Given the description of an element on the screen output the (x, y) to click on. 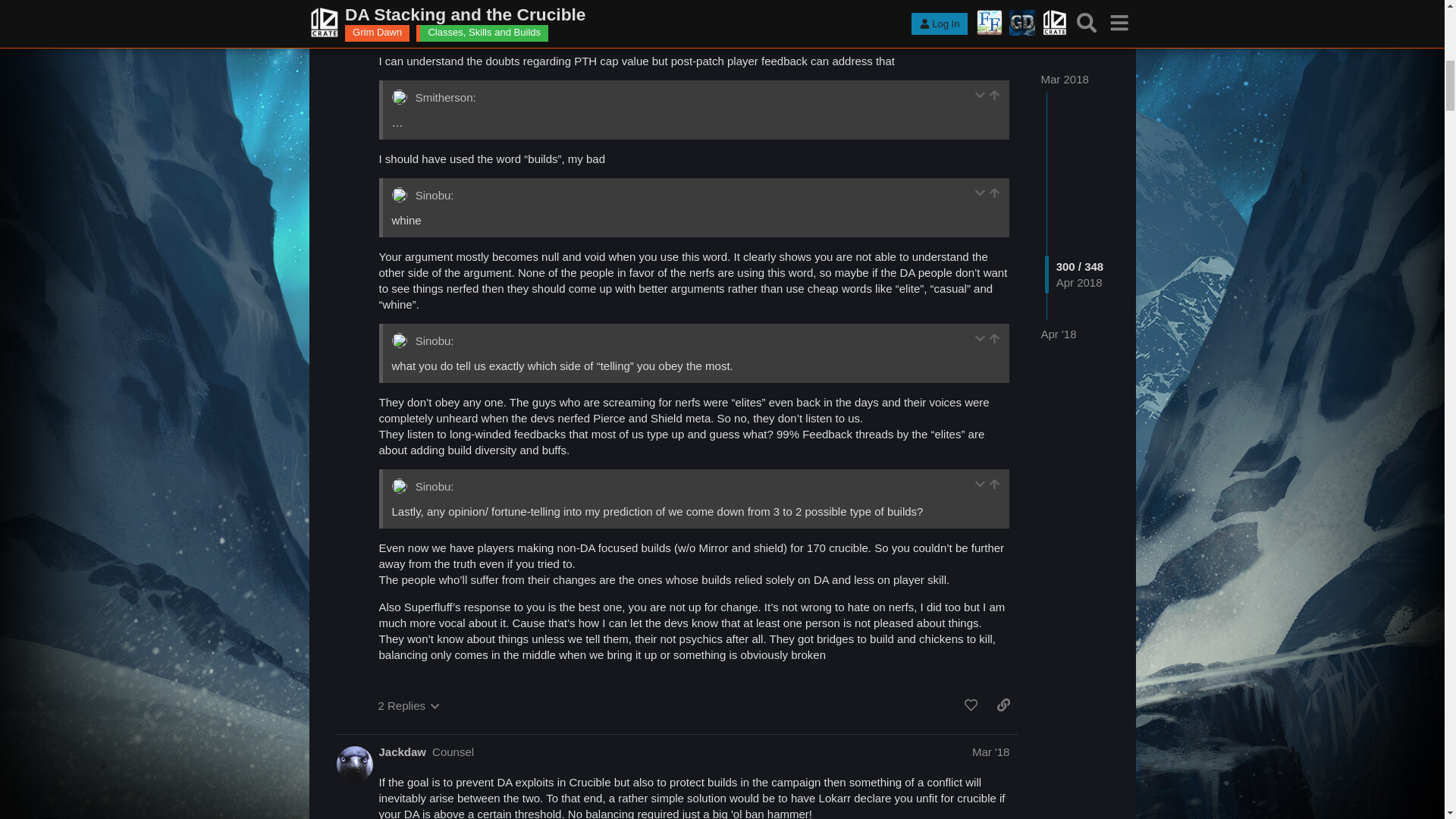
Jackdaw (402, 751)
2 Replies (407, 705)
